Given the description of an element on the screen output the (x, y) to click on. 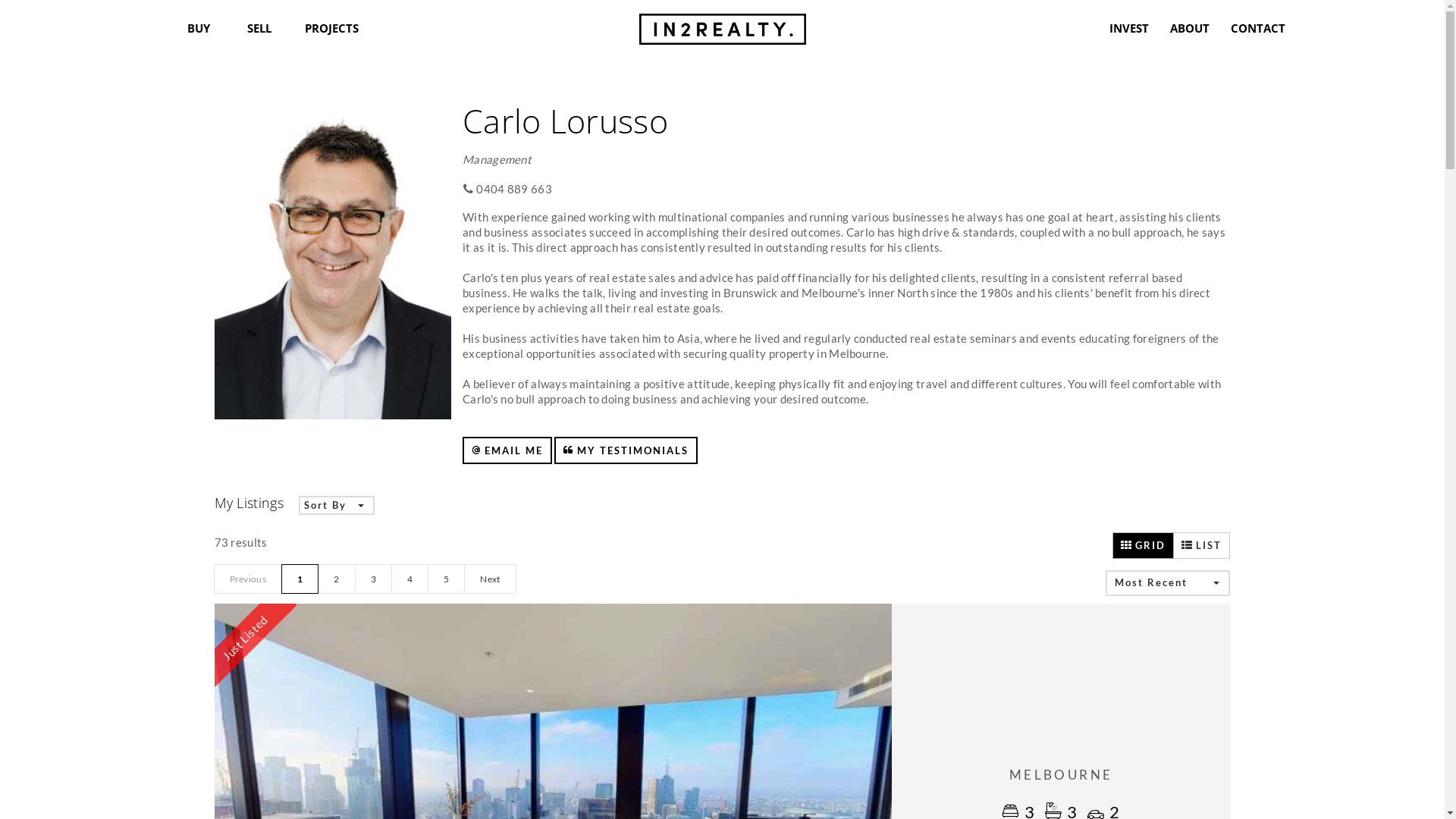
ABOUT Element type: text (1184, 27)
Next Element type: text (489, 578)
2 Element type: text (335, 578)
1 Element type: text (299, 578)
3 Element type: text (373, 578)
SELL Element type: text (259, 27)
EMAIL ME Element type: text (507, 450)
IN2REALTY Element type: hover (721, 24)
CONTACT Element type: text (1245, 27)
Most Recent
  Element type: text (1167, 583)
MY TESTIMONIALS Element type: text (625, 450)
4 Element type: text (409, 578)
Sort By
  Element type: text (336, 505)
PROJECTS Element type: text (319, 27)
BUY Element type: text (198, 27)
5 Element type: text (445, 578)
INVEST Element type: text (1124, 27)
Previous Element type: text (247, 578)
